Given the description of an element on the screen output the (x, y) to click on. 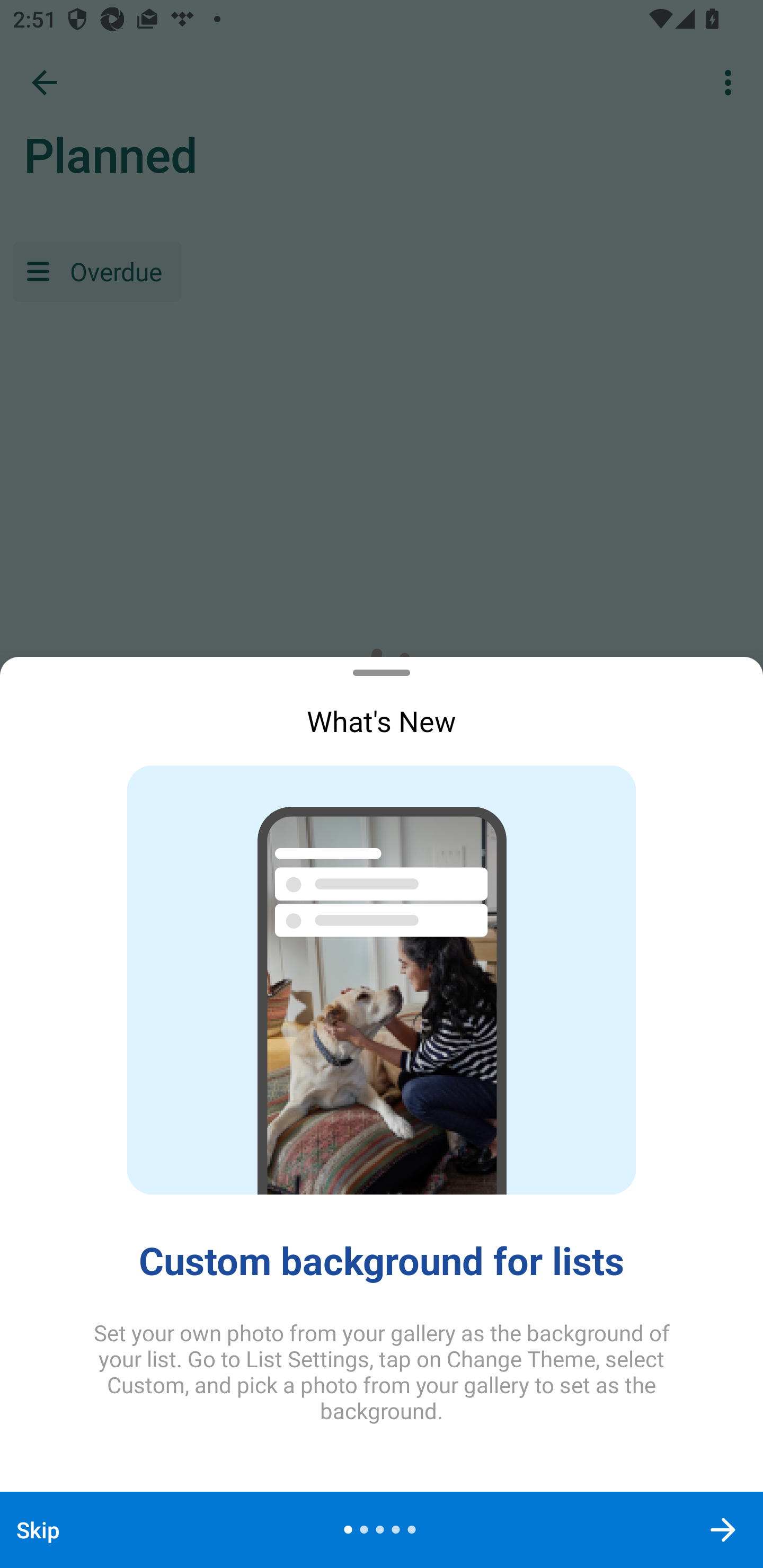
Skip (38, 1529)
